Given the description of an element on the screen output the (x, y) to click on. 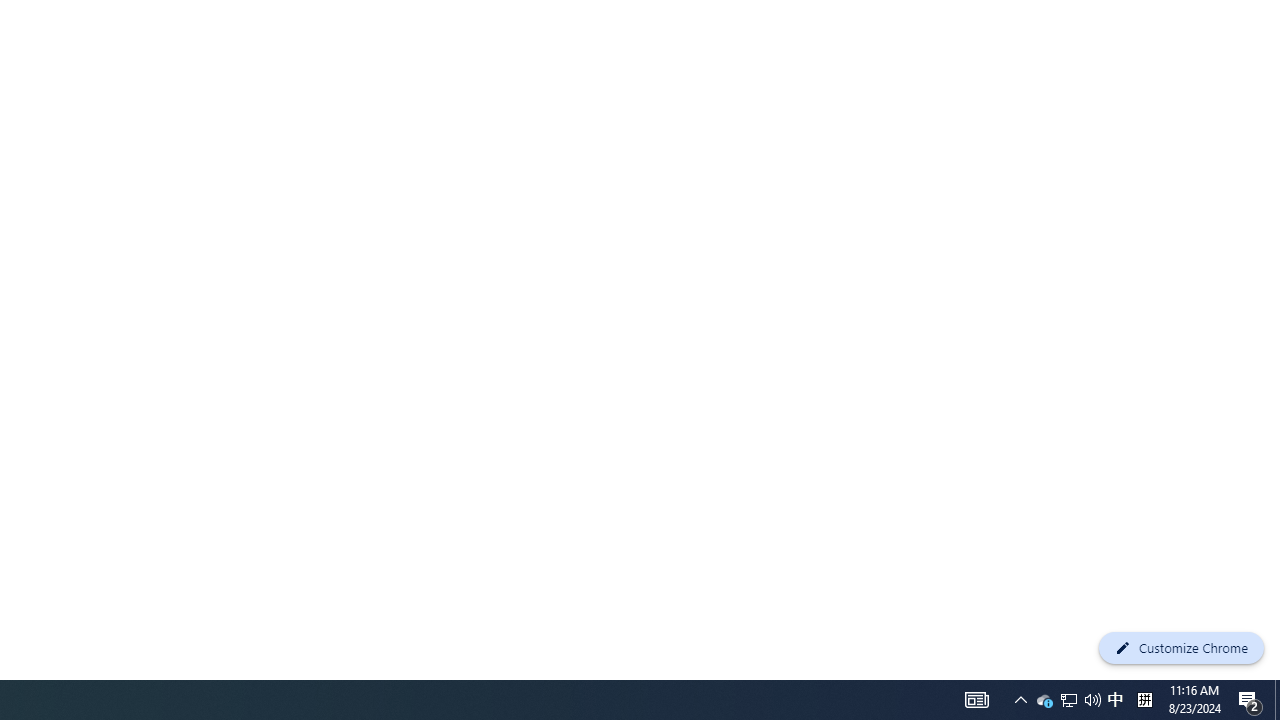
Notification Chevron (1069, 699)
User Promoted Notification Area (1020, 699)
Q2790: 100% (1068, 699)
Tray Input Indicator - Chinese (Simplified, China) (1044, 699)
AutomationID: 4105 (1092, 699)
Action Center, 2 new notifications (1144, 699)
Show desktop (976, 699)
